Given the description of an element on the screen output the (x, y) to click on. 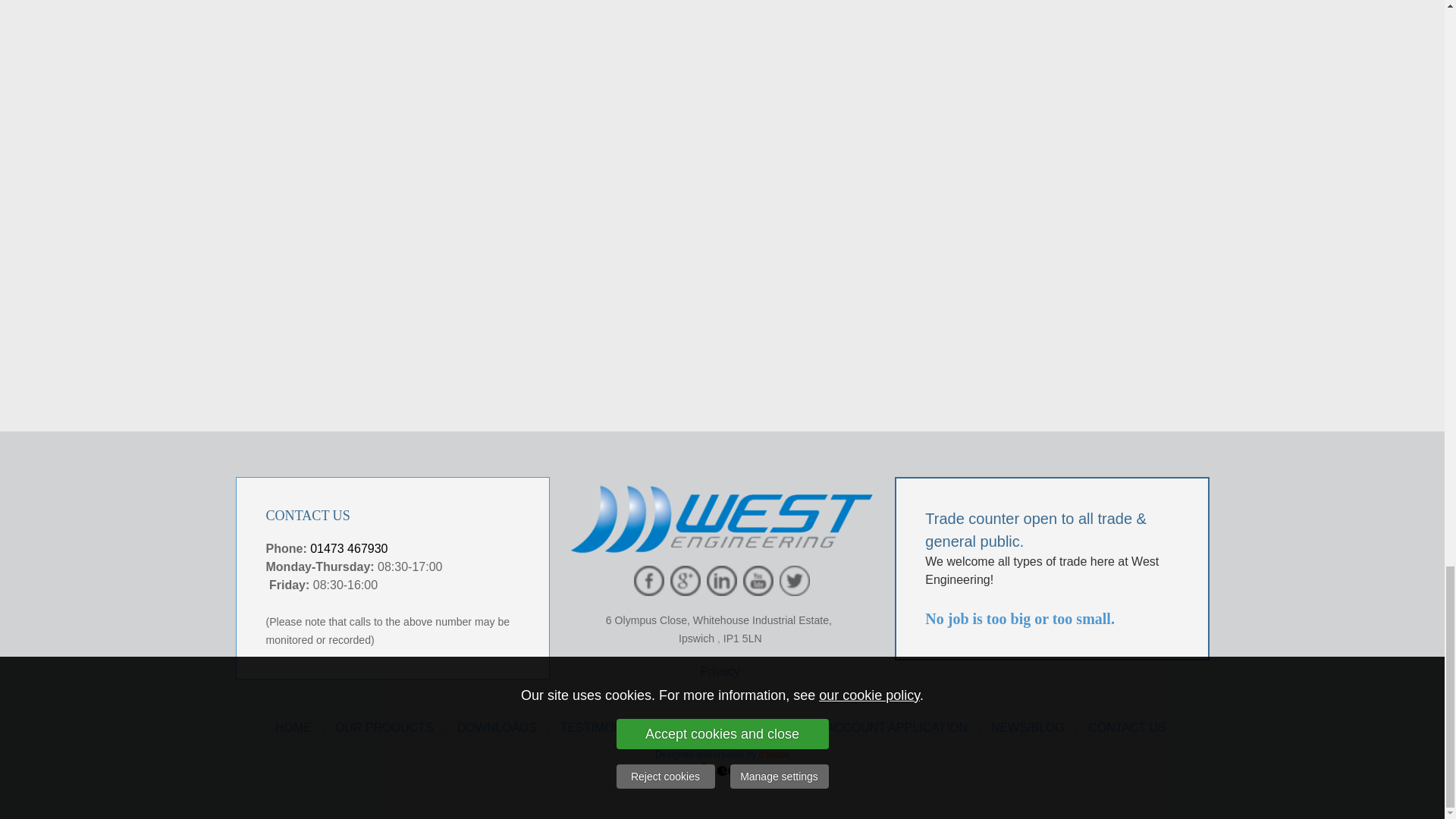
DOWNLOADS (497, 727)
ACCOUNT APPLICATION (896, 727)
it'seeze (773, 753)
OUR PRODUCTS (383, 727)
CAREERS (765, 727)
PRESS (692, 727)
01473 467930  (350, 548)
HOME (293, 727)
CONTACT US (1126, 727)
TESTIMONIALS (604, 727)
